Given the description of an element on the screen output the (x, y) to click on. 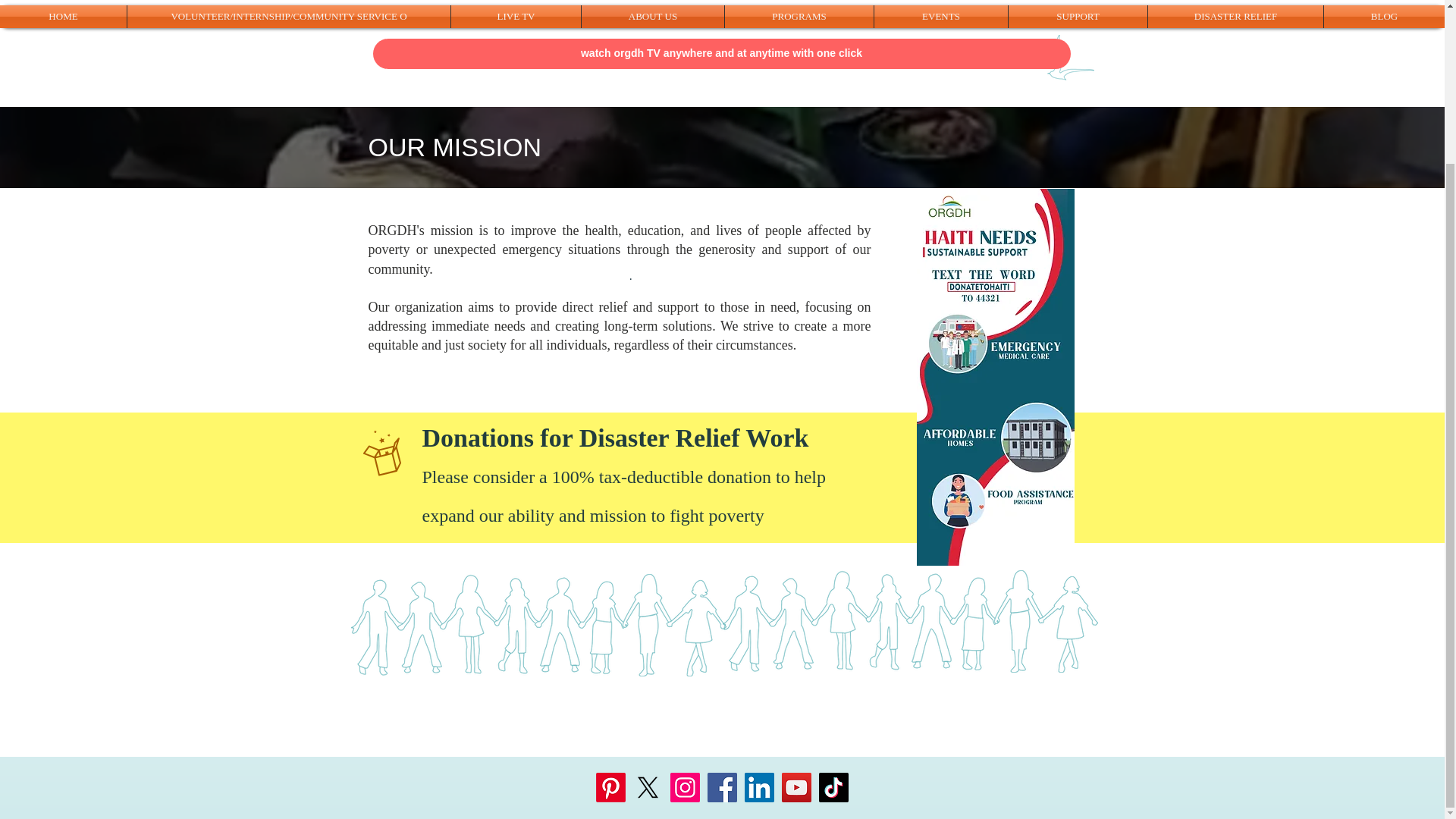
LIVE TV (515, 15)
SUPPORT (1078, 15)
HOME (63, 15)
ABOUT US (651, 15)
PROGRAMS (799, 15)
DISASTER RELIEF (1235, 15)
Donate (1008, 478)
EVENTS (941, 15)
watch orgdh TV anywhere and at anytime with one click (721, 53)
